Given the description of an element on the screen output the (x, y) to click on. 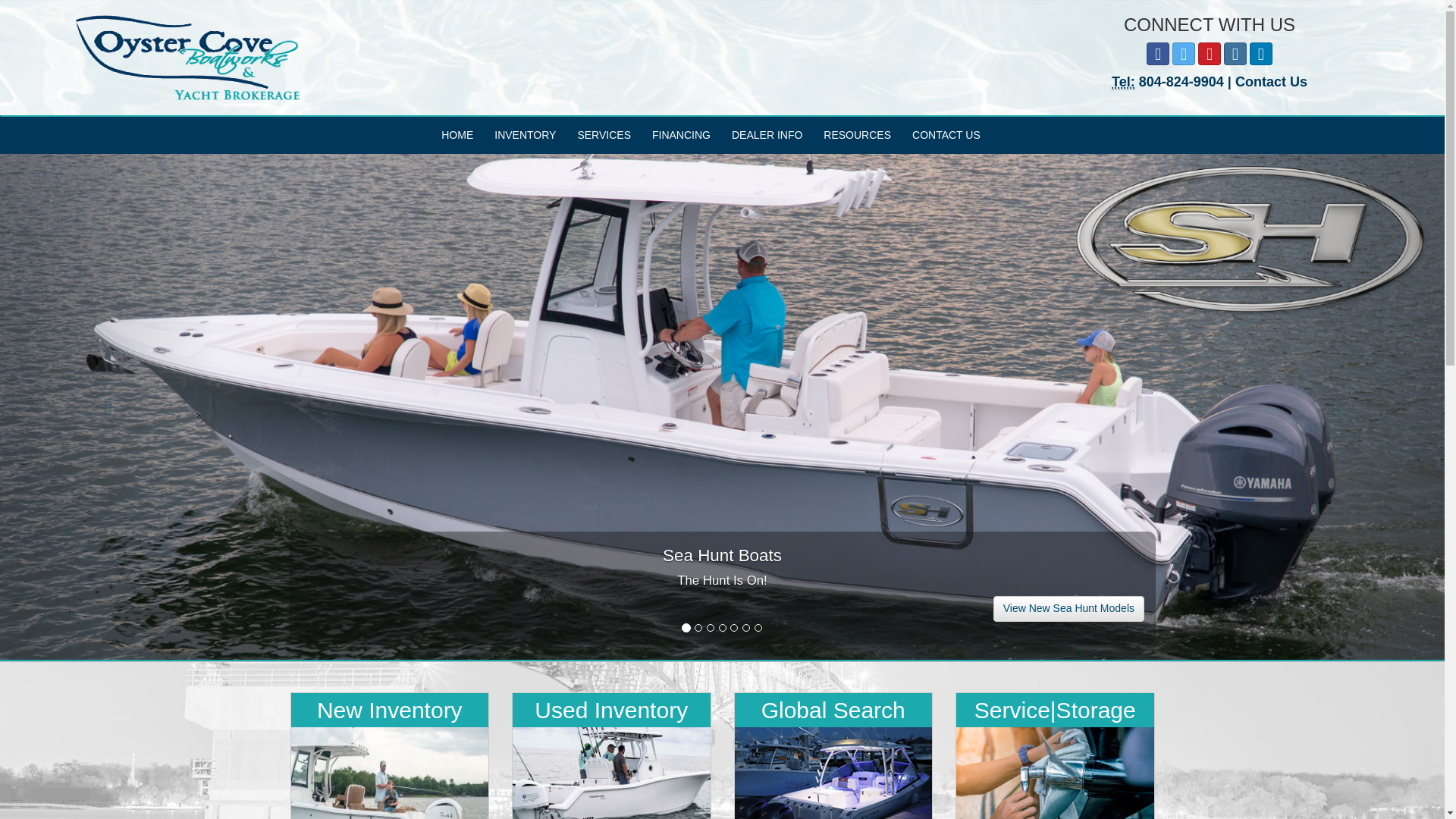
Social media, twitter link (1183, 53)
804-824-9904 (1182, 81)
Phone (1123, 82)
Inventory (524, 135)
Social media, linkedin link (1260, 53)
Social media, facebook link (1158, 53)
Services (604, 135)
DEALER INFO (766, 135)
RESOURCES (856, 135)
Social media, youtube link (1209, 53)
